Given the description of an element on the screen output the (x, y) to click on. 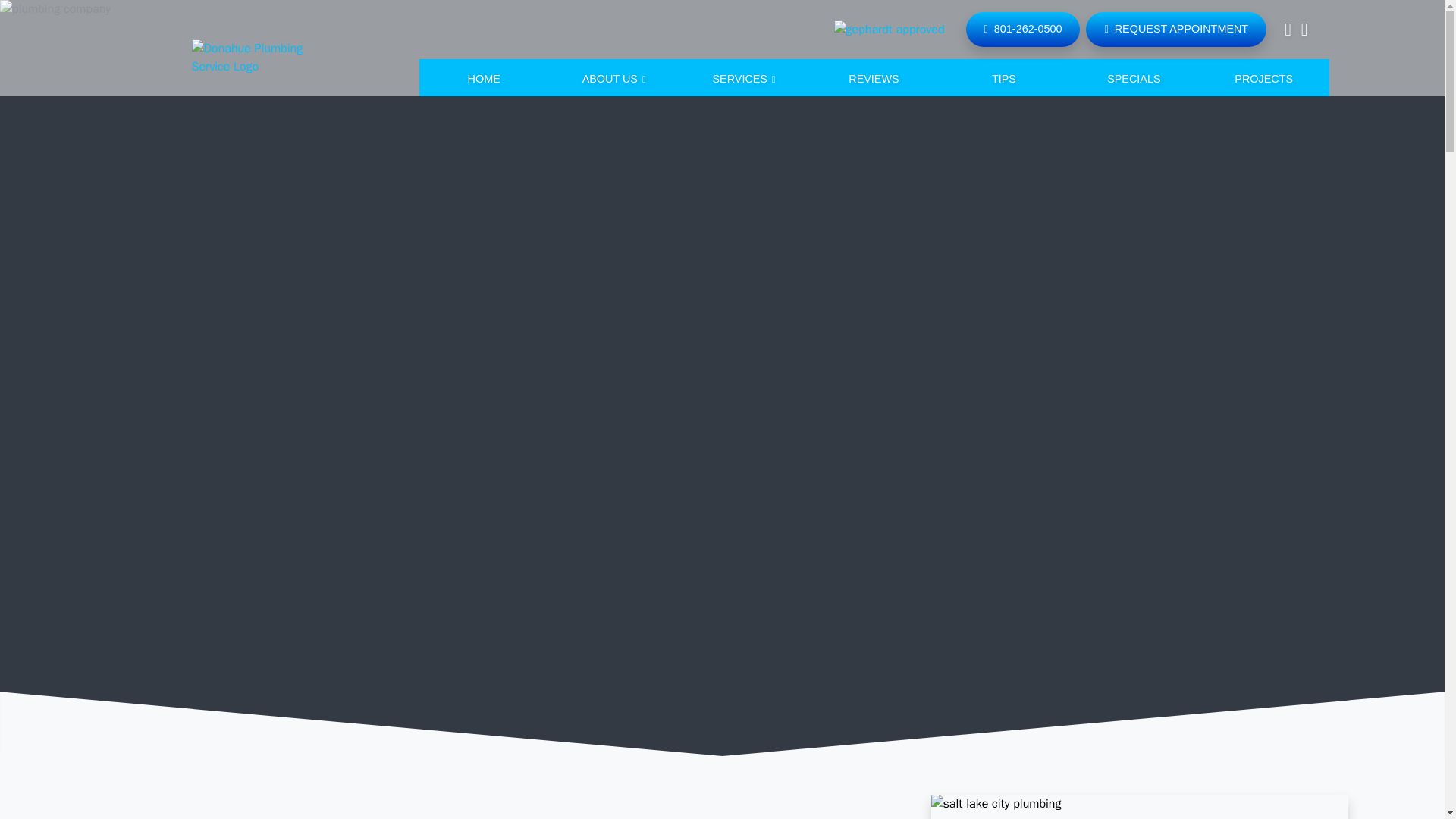
ABOUT US (613, 79)
801-262-0500 (1023, 29)
HOME (483, 79)
SERVICES (743, 79)
REQUEST APPOINTMENT (1176, 29)
